Given the description of an element on the screen output the (x, y) to click on. 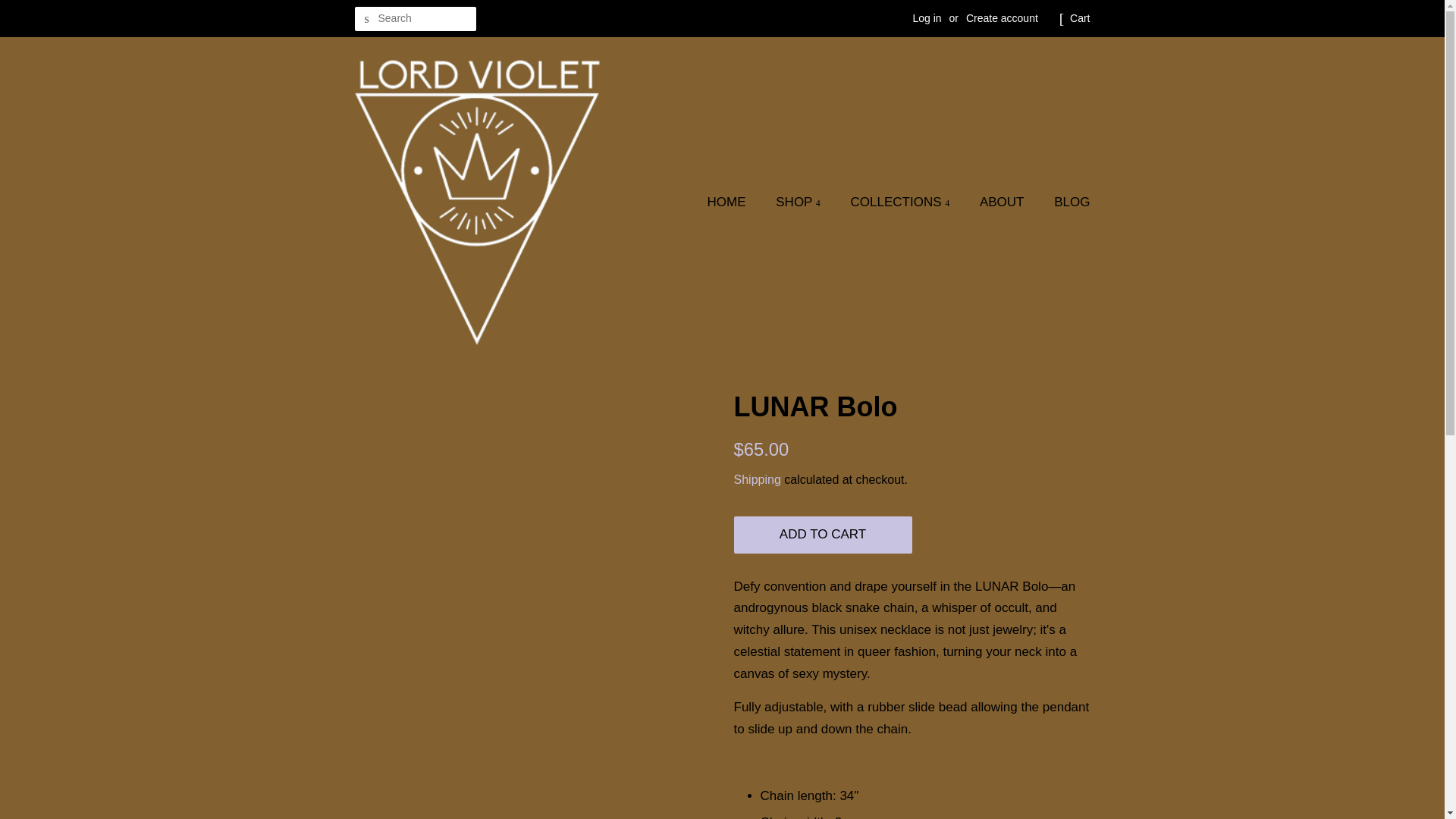
HOME (734, 202)
Cart (1079, 18)
Create account (1002, 18)
COLLECTIONS (902, 202)
SEARCH (366, 18)
SHOP (799, 202)
Log in (927, 18)
